Given the description of an element on the screen output the (x, y) to click on. 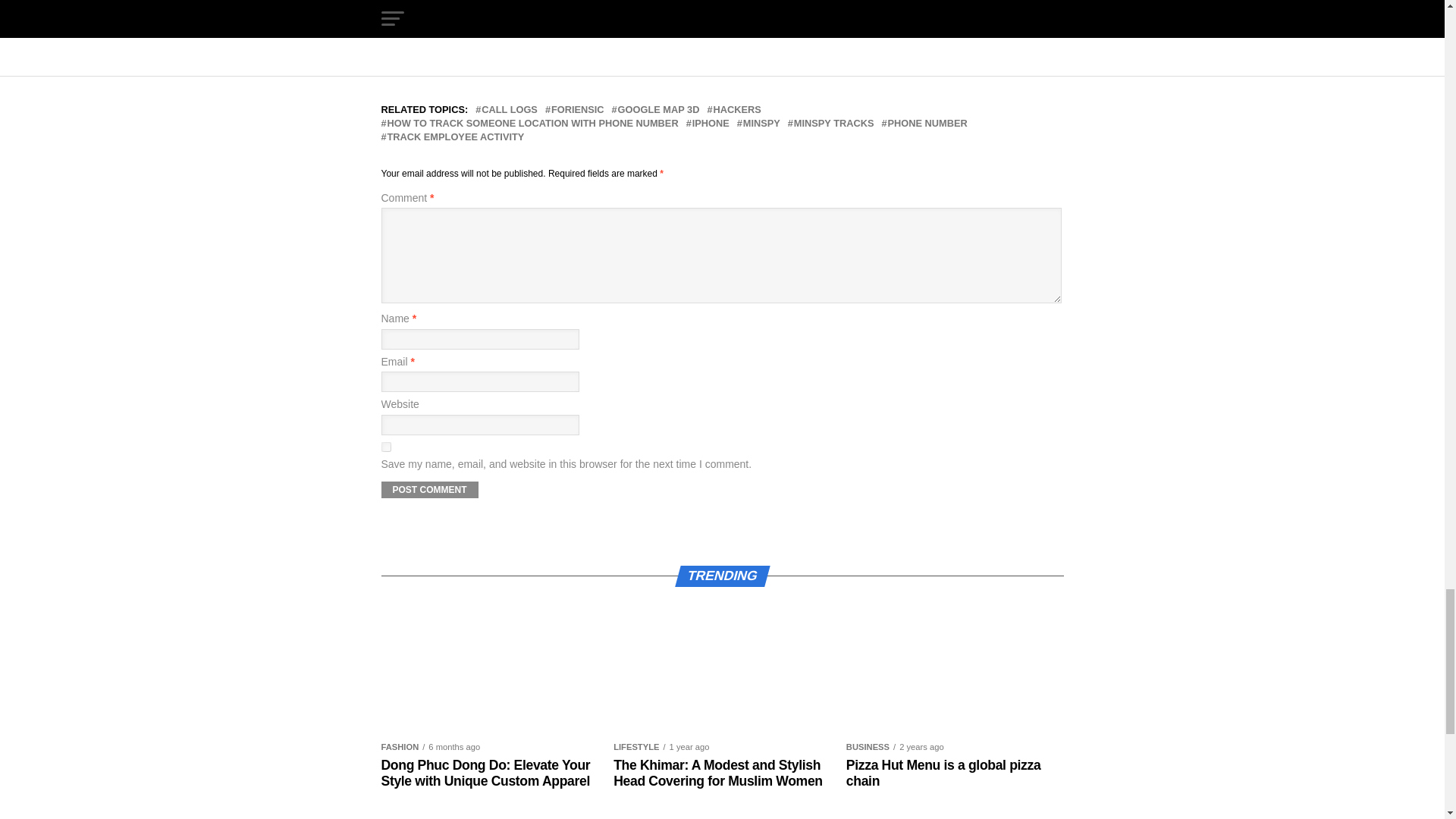
yes (385, 447)
MINSPY (761, 123)
FORIENSIC (577, 110)
PHONE NUMBER (928, 123)
CALL LOGS (509, 110)
IPHONE (711, 123)
HACKERS (736, 110)
HOW TO TRACK SOMEONE LOCATION WITH PHONE NUMBER (532, 123)
GOOGLE MAP 3D (658, 110)
TRACK EMPLOYEE ACTIVITY (455, 137)
